Given the description of an element on the screen output the (x, y) to click on. 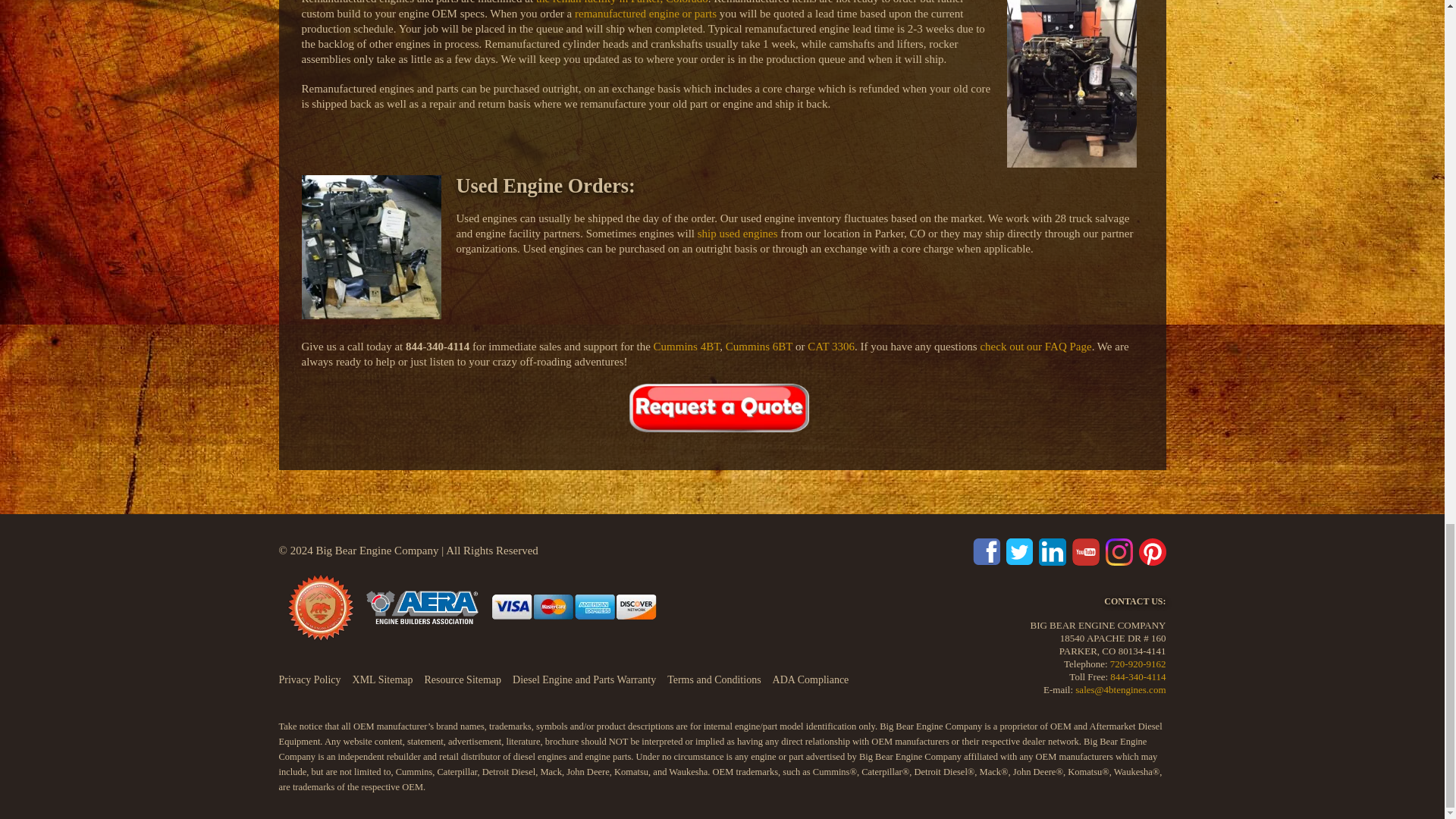
Linkedin (1052, 550)
facebook (985, 550)
Instagram (1118, 550)
Instagram (1152, 550)
twitter (1019, 550)
Youtube (1085, 550)
